Given the description of an element on the screen output the (x, y) to click on. 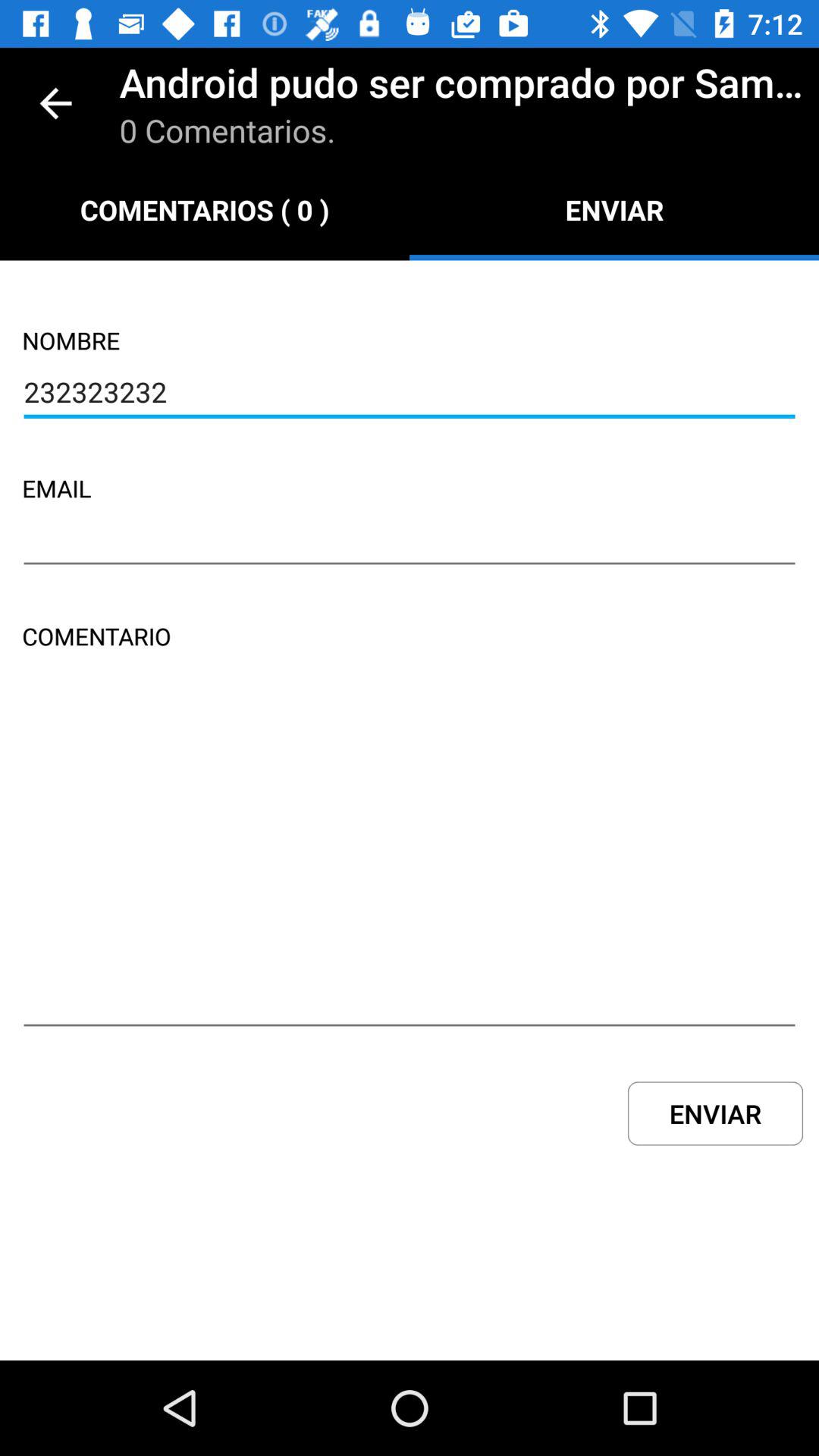
launch the 232323232 item (409, 394)
